Given the description of an element on the screen output the (x, y) to click on. 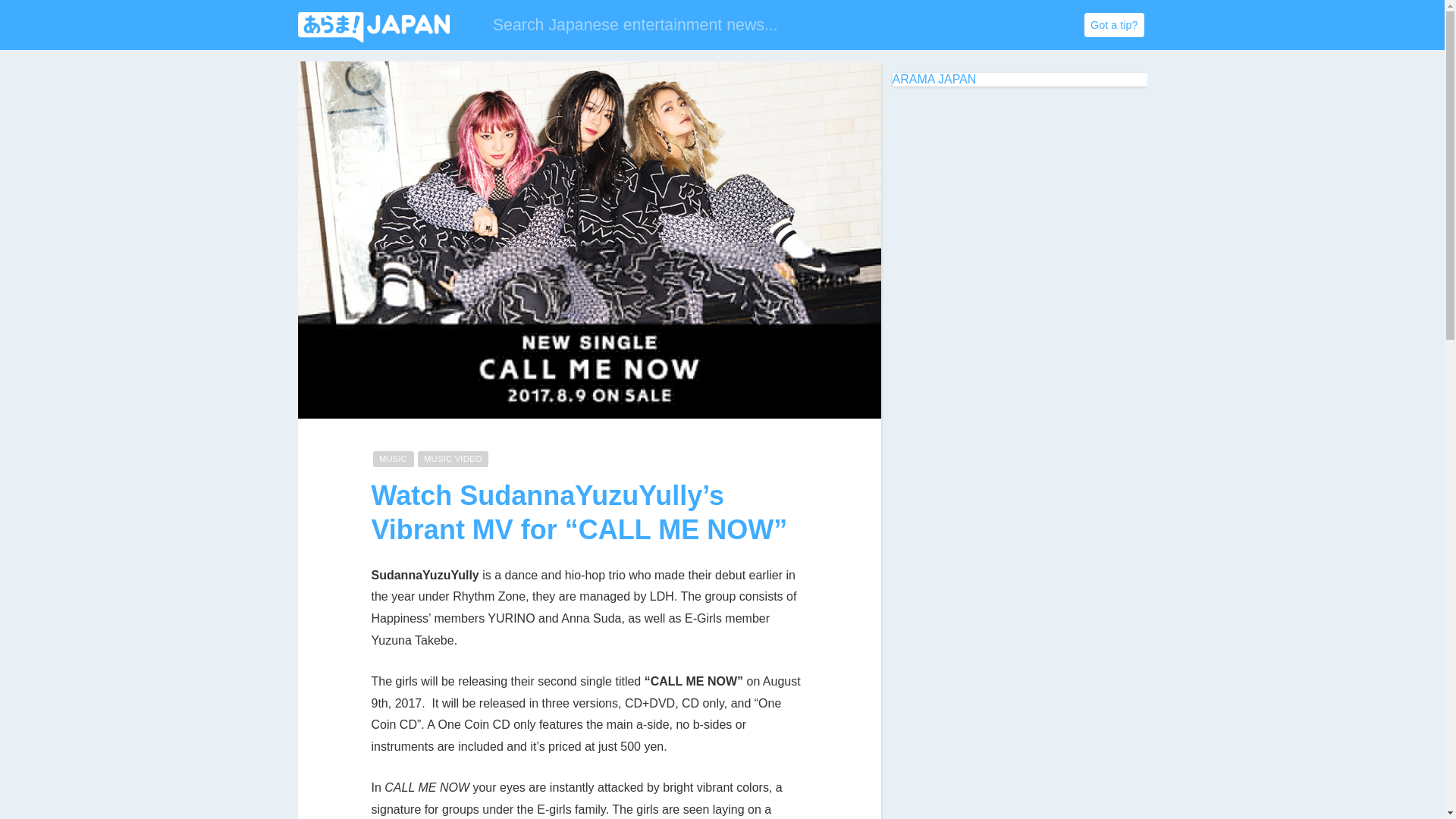
ARAMA! JAPAN - Tip Submission (1113, 24)
MUSIC VIDEO (453, 458)
ARAMA! JAPAN Official Facebook (974, 25)
Facebook (974, 25)
ARAMA! JAPAN Official Twitter (944, 25)
Got a tip? (1113, 24)
ARAMA! JAPAN Official Tumblr (1004, 25)
Twitter (944, 25)
Tumblr (1004, 25)
ARAMA! JAPAN Official Instagram (1035, 25)
